Given the description of an element on the screen output the (x, y) to click on. 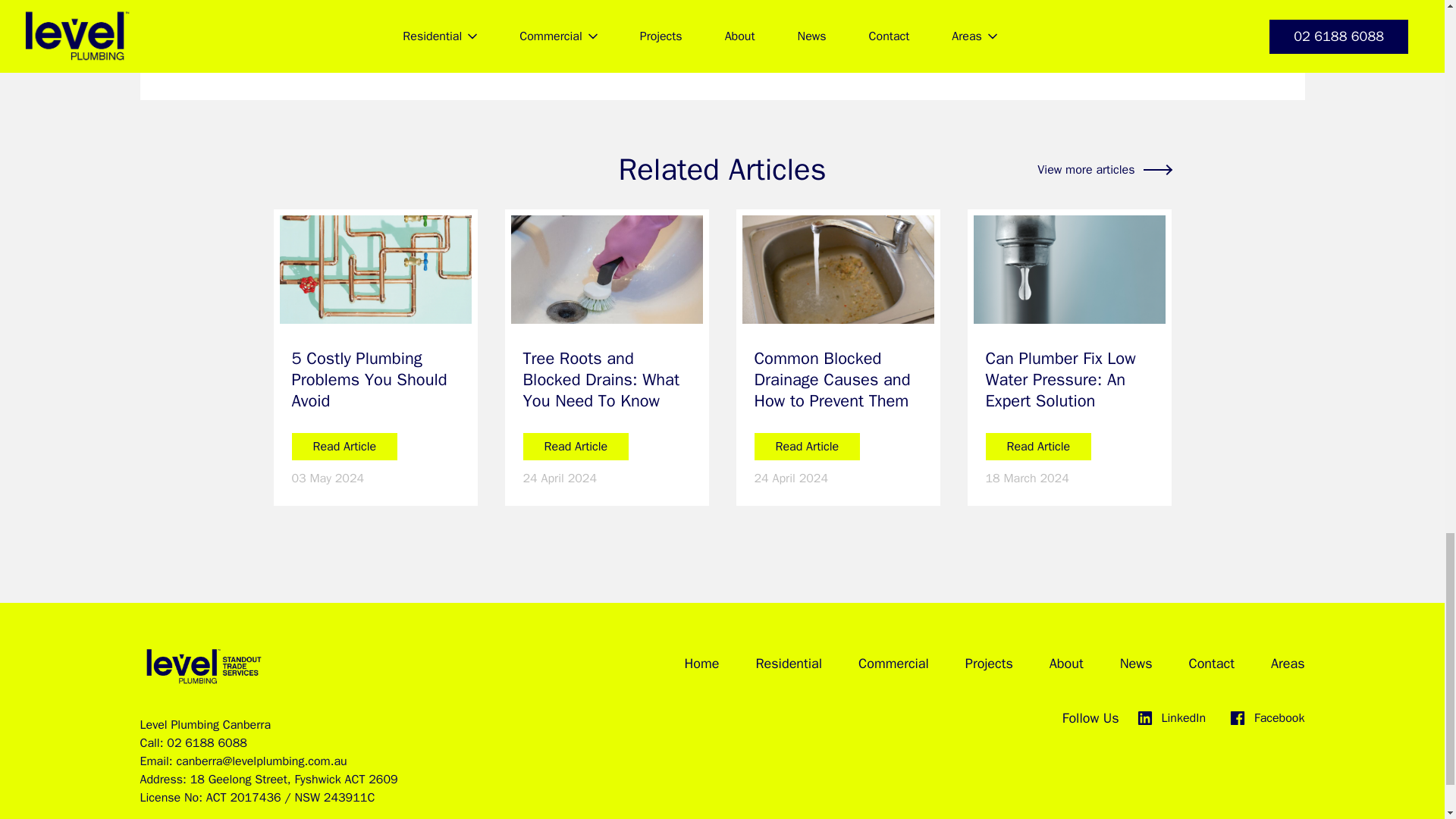
Share on LinkedIn (565, 48)
Share on Facebook (526, 48)
